Given the description of an element on the screen output the (x, y) to click on. 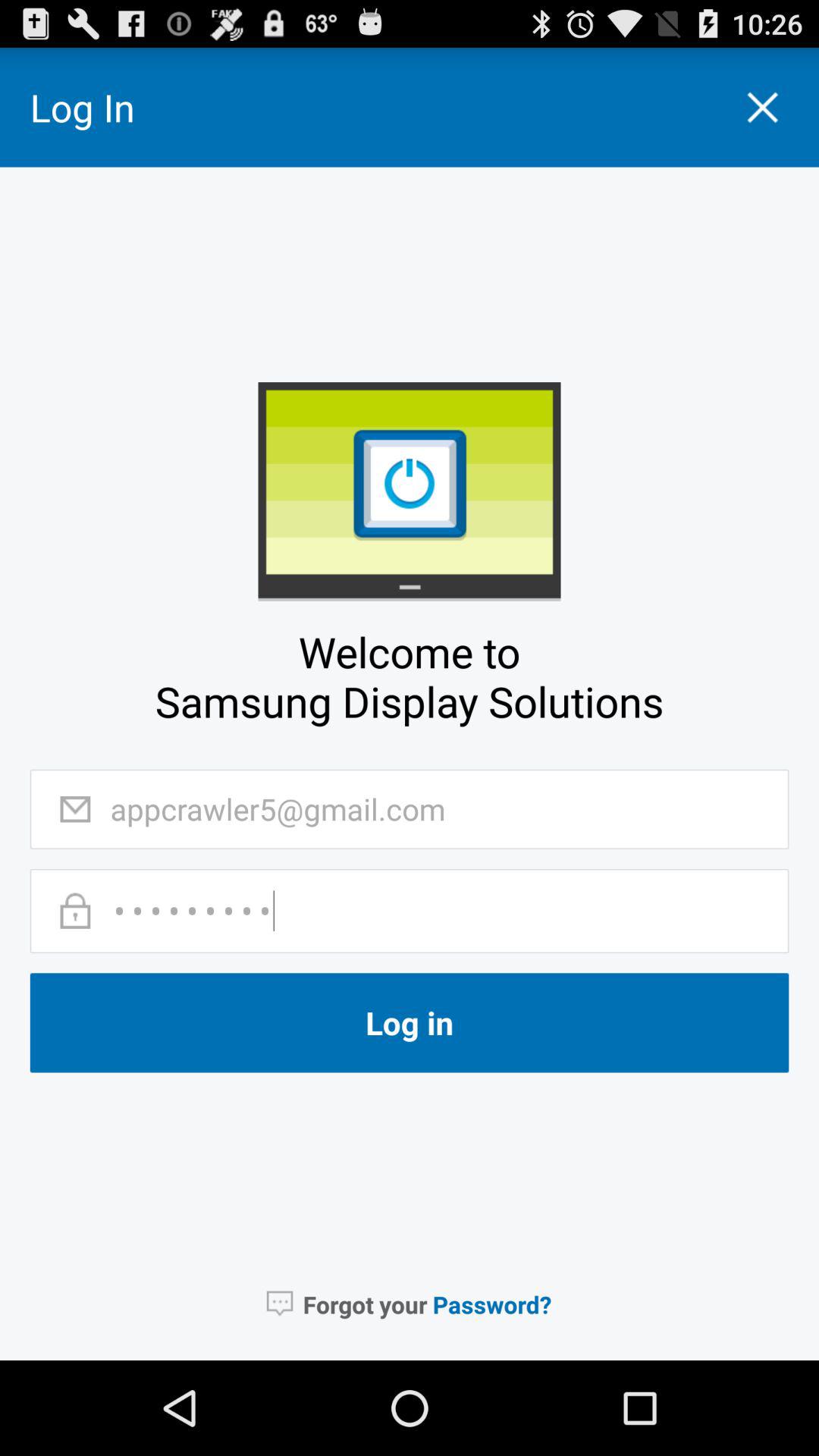
select the email symbol (75, 809)
select blue text at bottom (492, 1304)
click on the icon right side of log in (762, 107)
select the password text field (434, 910)
click on the icon beside the password field (75, 910)
select the icon which is beside forgot your password (279, 1304)
log in (409, 1022)
